Given the description of an element on the screen output the (x, y) to click on. 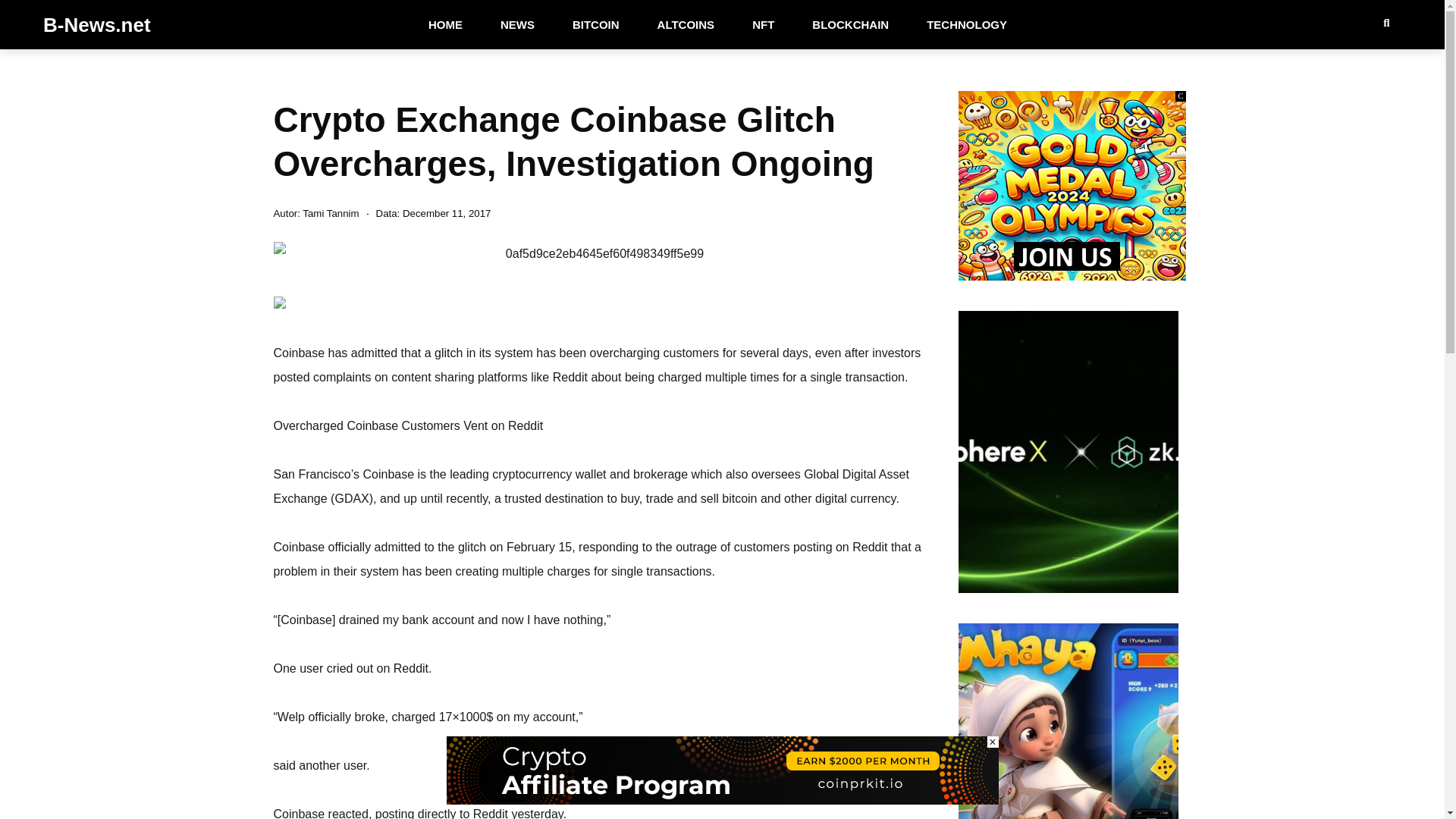
HOME (445, 24)
B-News.net (97, 24)
BITCOIN (596, 24)
0af5d9ce2eb4645ef60f498349ff5e99 (598, 253)
TECHNOLOGY (966, 24)
NEWS (517, 24)
ALTCOINS (686, 24)
BLOCKCHAIN (850, 24)
NFT (763, 24)
close (992, 741)
